Given the description of an element on the screen output the (x, y) to click on. 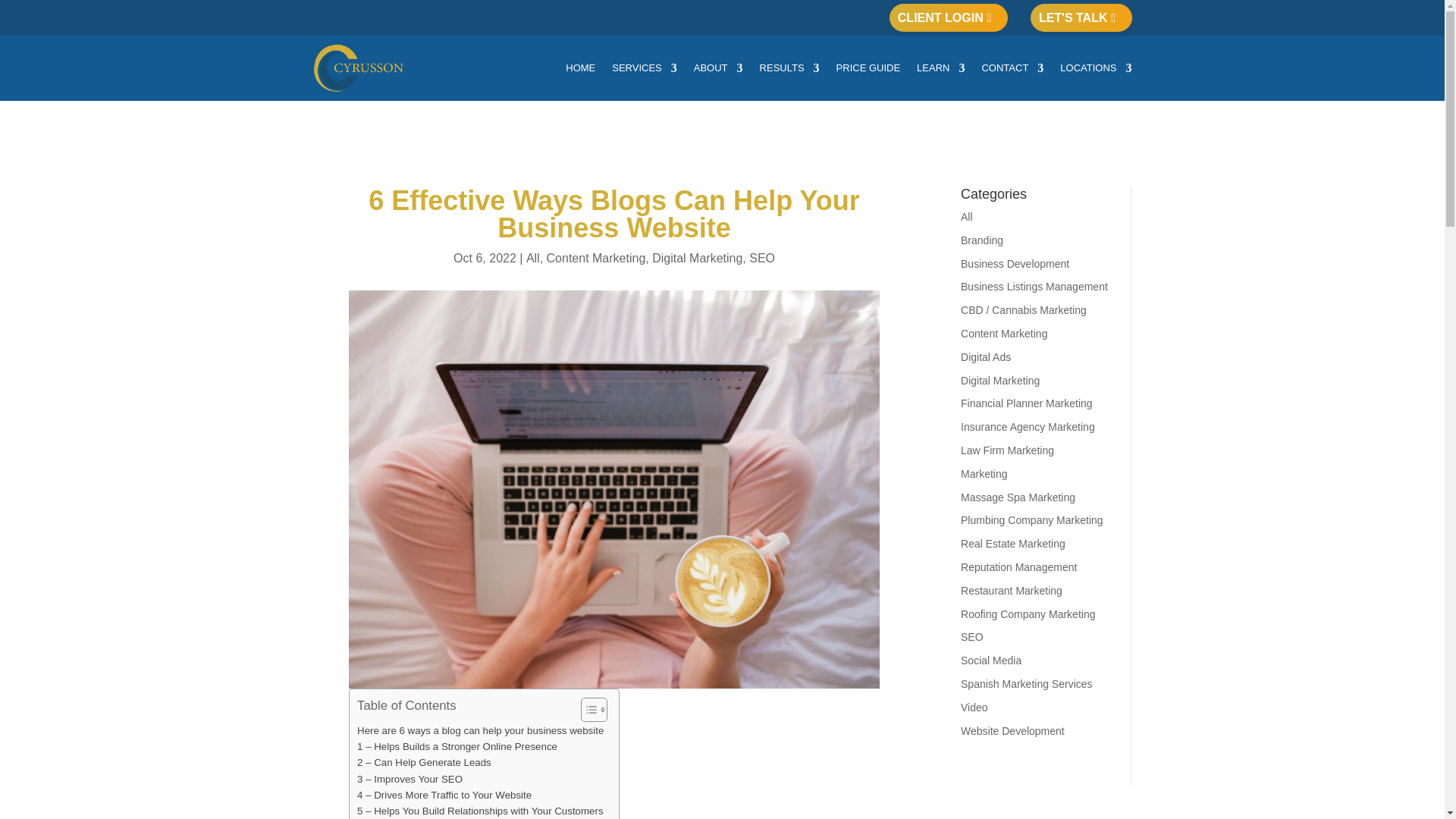
LET'S TALK (1081, 17)
SERVICES (644, 68)
CLIENT LOGIN (948, 17)
Here are 6 ways a blog can help your business website (480, 730)
PRICE GUIDE (868, 68)
RESULTS (789, 68)
